Given the description of an element on the screen output the (x, y) to click on. 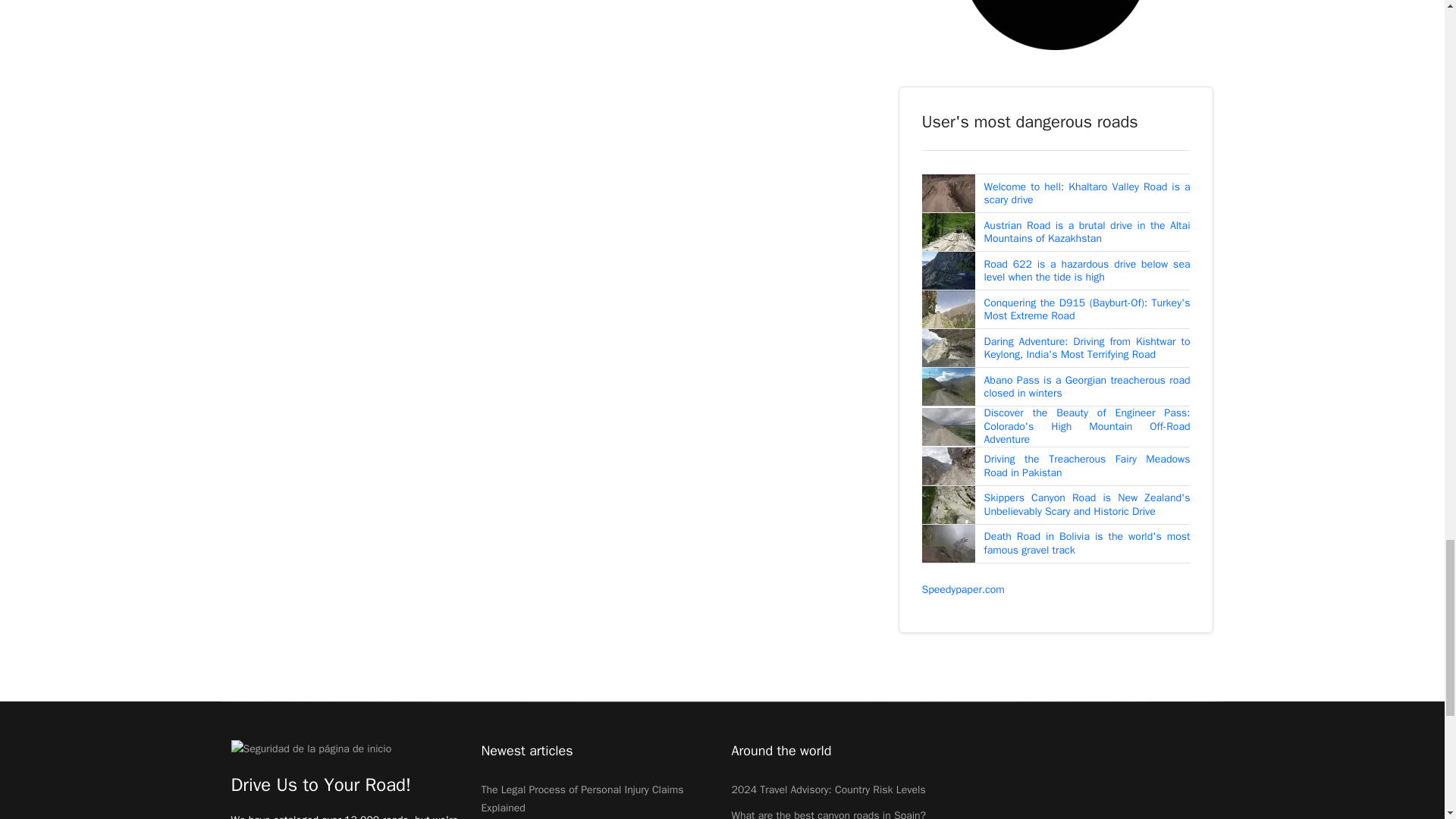
Welcome to hell: Khaltaro Valley Road is a scary drive (1087, 193)
Abano Pass is a Georgian treacherous road closed in winters (1087, 386)
